Given the description of an element on the screen output the (x, y) to click on. 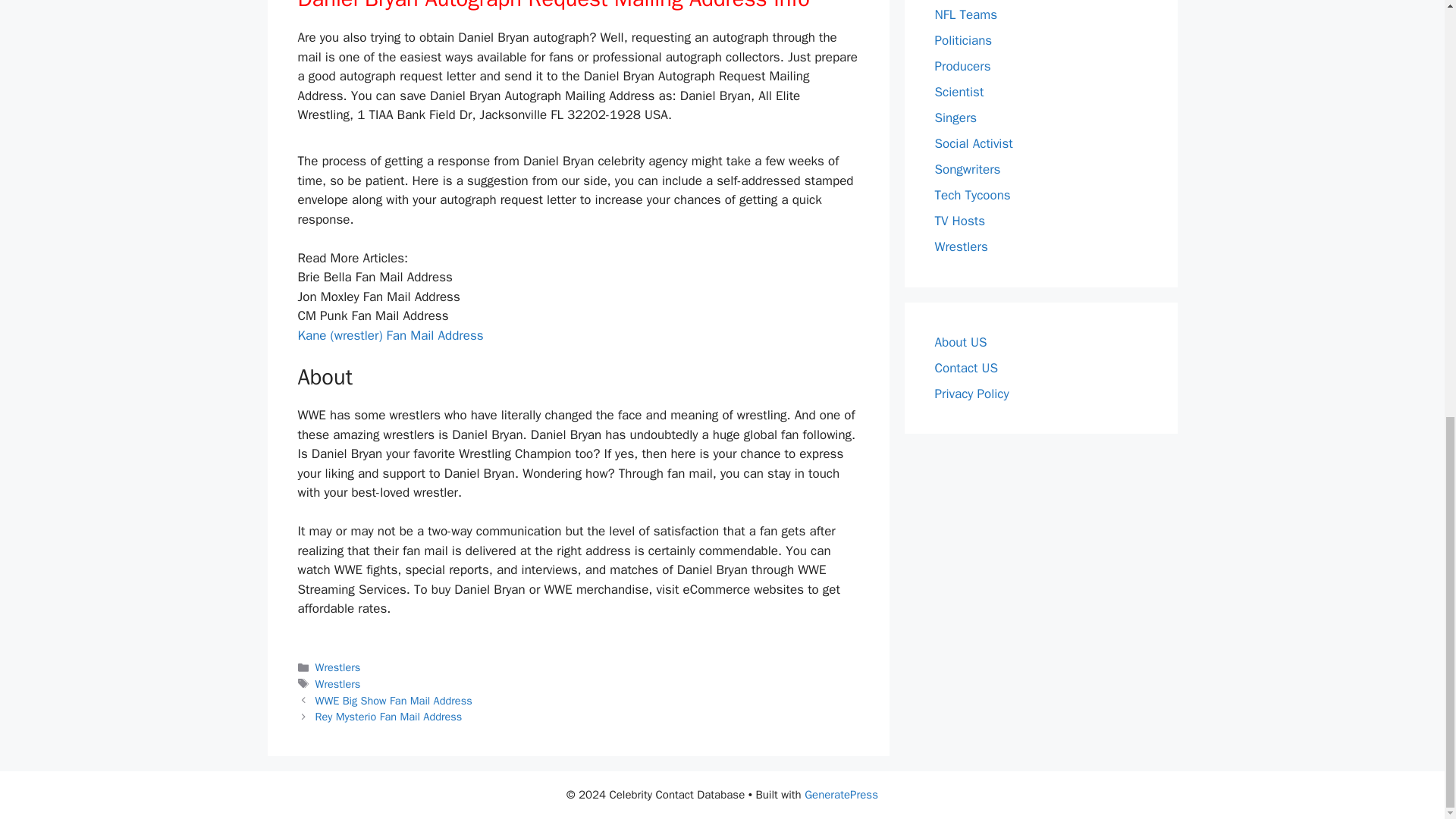
WWE Big Show Fan Mail Address (393, 700)
Politicians (962, 40)
Rey Mysterio Fan Mail Address (389, 716)
Scientist (959, 91)
Wrestlers (338, 667)
NFL Teams (965, 14)
Wrestlers (338, 684)
Singers (955, 117)
Producers (962, 66)
